Given the description of an element on the screen output the (x, y) to click on. 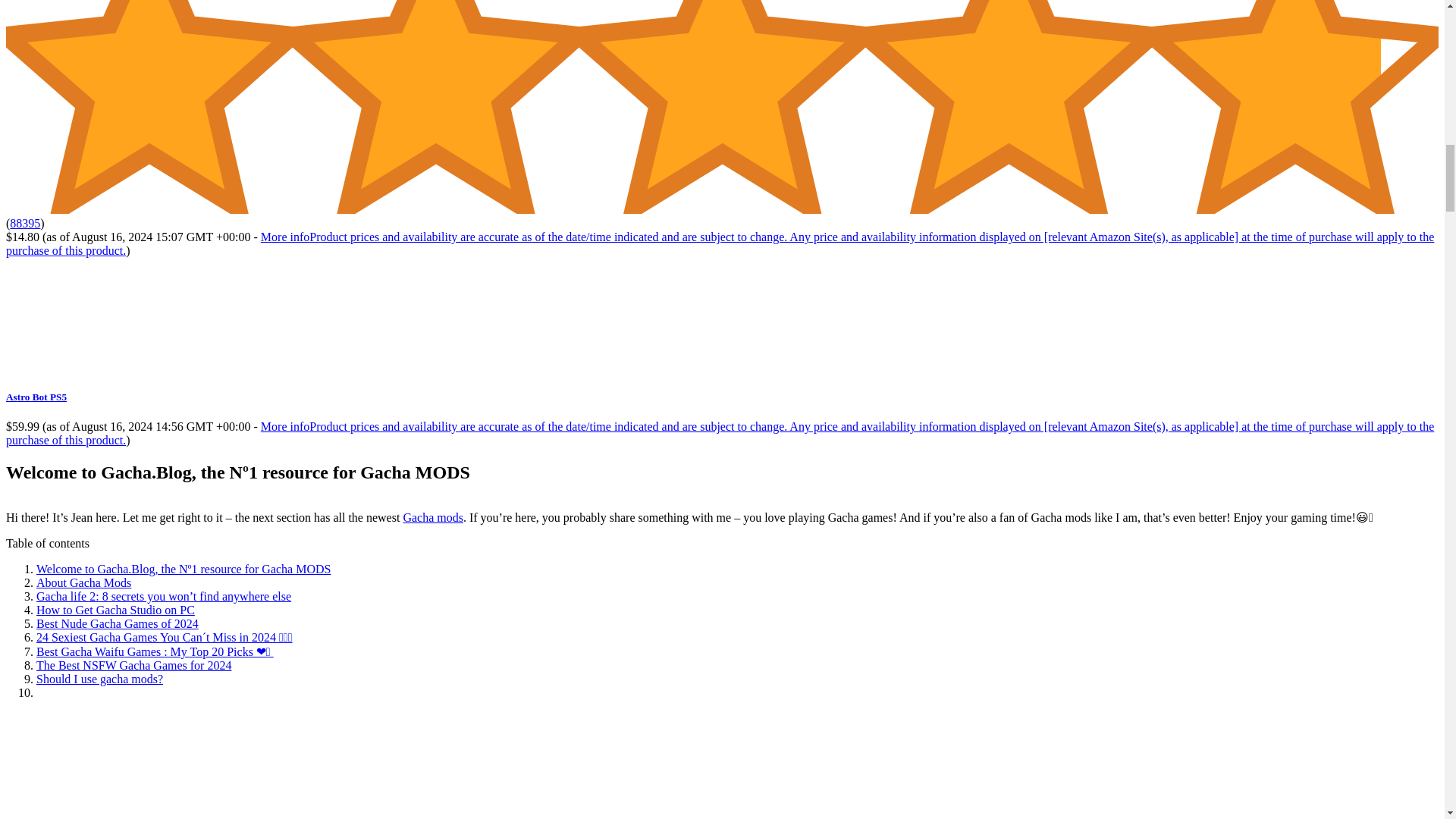
Best Nude Gacha Games of 2024 (117, 623)
Astro Bot PS5 (35, 396)
Should I use gacha mods? (99, 678)
About Gacha Mods (83, 582)
How to Get Gacha Studio on PC (115, 609)
Astro Bot PS5:  (118, 367)
88395 (25, 223)
About Gacha Mods (83, 582)
The Best NSFW Gacha Games for 2024 (133, 665)
How to Get Gacha Studio on PC (115, 609)
